Given the description of an element on the screen output the (x, y) to click on. 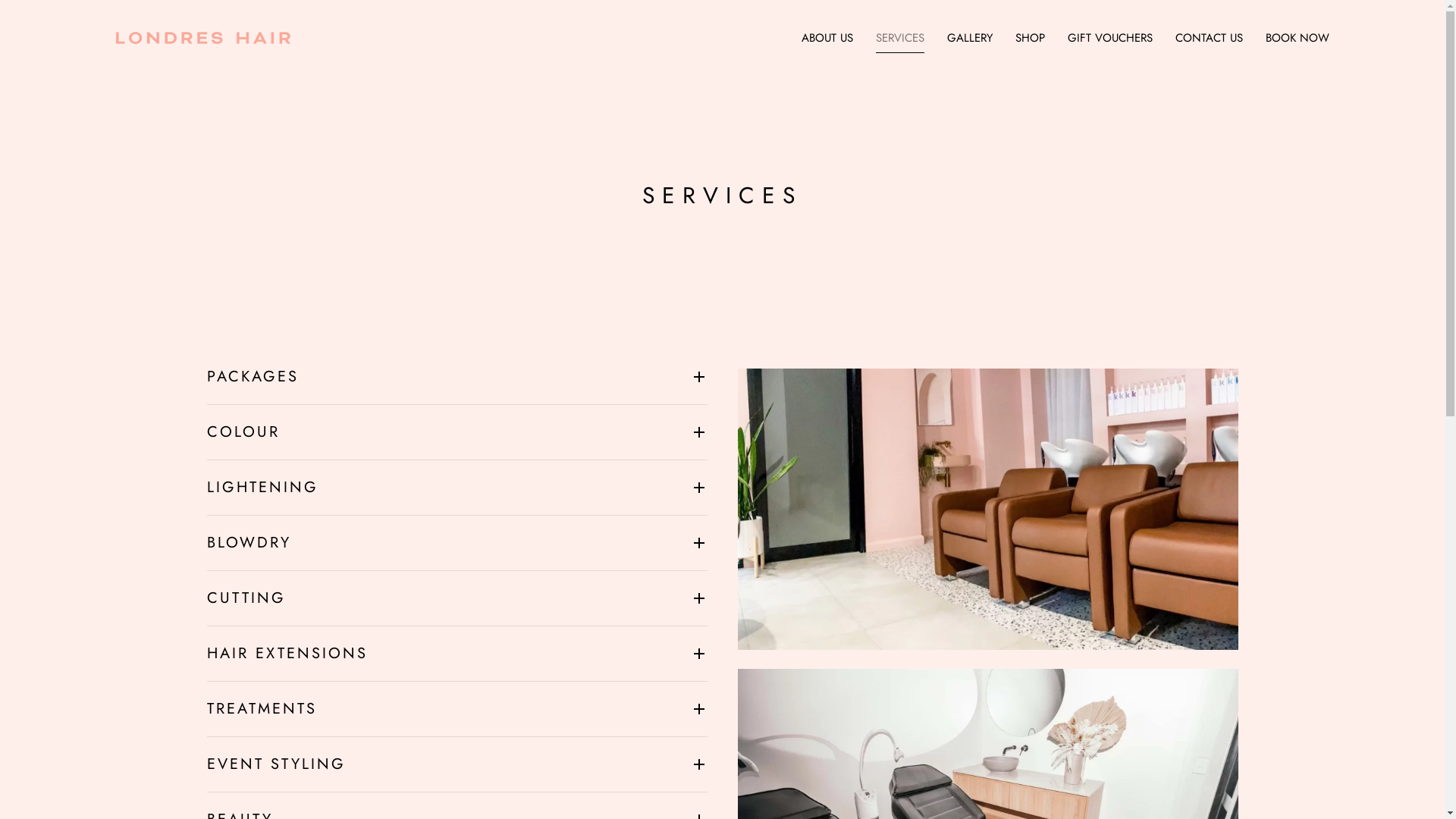
HAIR EXTENSIONS Element type: text (456, 653)
COLOUR Element type: text (456, 431)
CONTACT US Element type: text (1208, 37)
LIGHTENING Element type: text (456, 487)
SERVICES Element type: text (899, 37)
PACKAGES Element type: text (456, 376)
TREATMENTS Element type: text (456, 708)
GIFT VOUCHERS Element type: text (1109, 37)
GALLERY Element type: text (969, 37)
BOOK NOW Element type: text (1297, 37)
BLOWDRY Element type: text (456, 542)
SHOP Element type: text (1030, 37)
EVENT STYLING Element type: text (456, 764)
CUTTING Element type: text (456, 597)
ABOUT US Element type: text (827, 37)
